Given the description of an element on the screen output the (x, y) to click on. 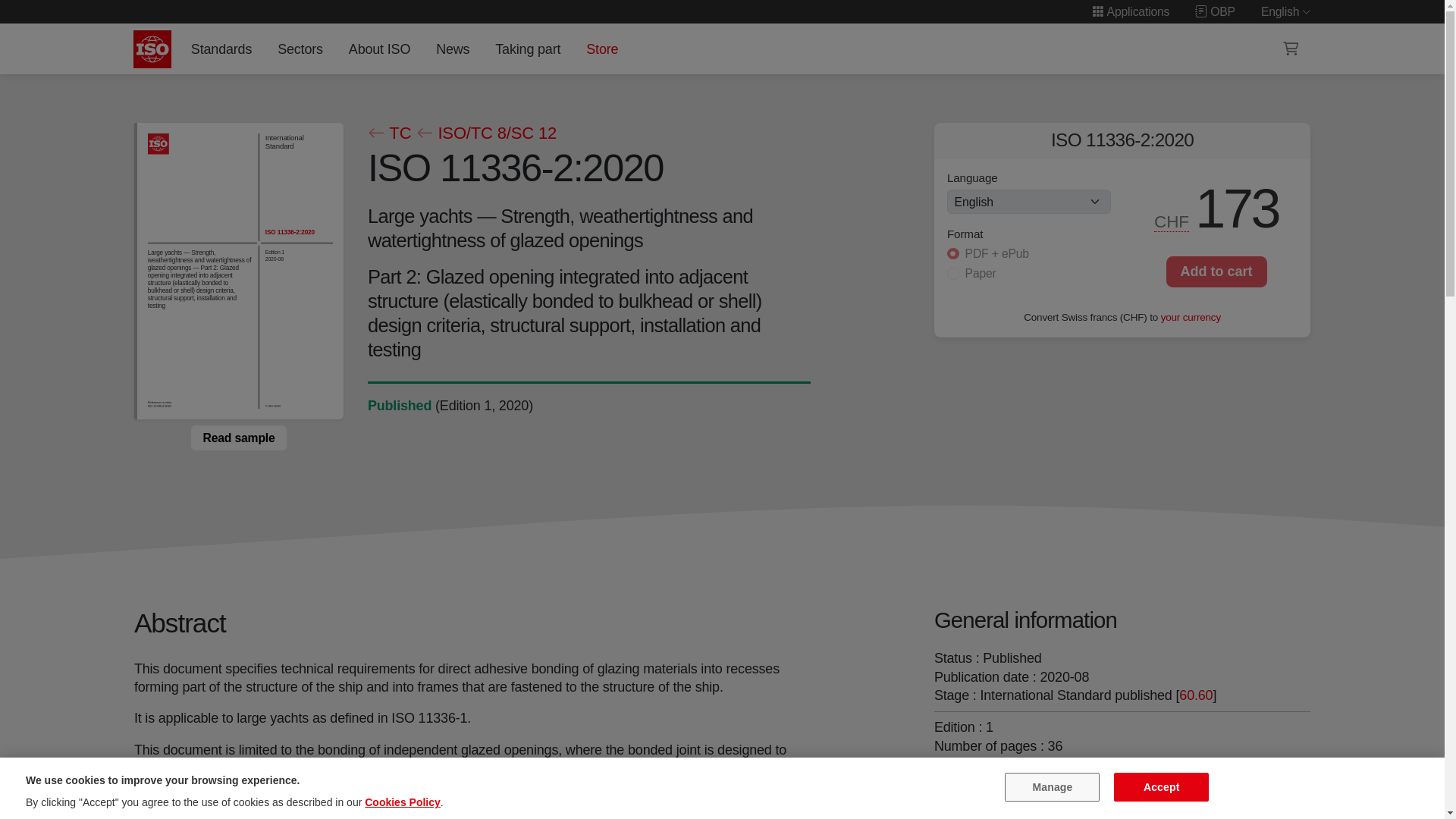
Seagoing vessels (988, 795)
Ships and marine technology - Large yachts (1117, 777)
ISO's applications portal (1130, 11)
your currency (1190, 316)
Published (398, 405)
News (452, 48)
Sectors (300, 48)
Store (601, 48)
Swiss francs (1171, 221)
International Organization for Standardization (152, 48)
47.040 (988, 795)
Read sample (237, 437)
Add to cart (1216, 271)
